Given the description of an element on the screen output the (x, y) to click on. 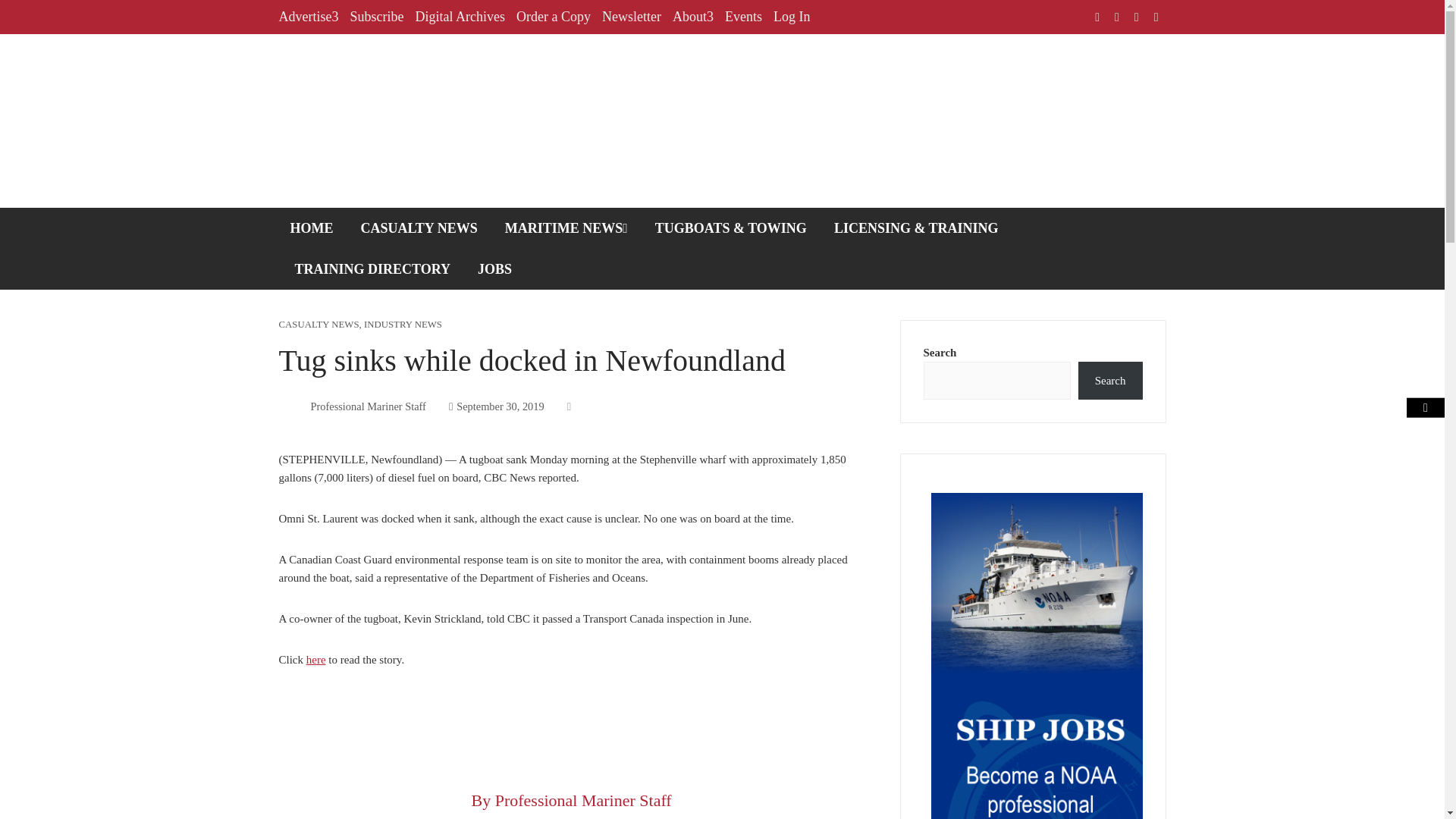
Advertise (309, 17)
Events (743, 17)
About (692, 17)
Log In (791, 17)
Order a Copy (553, 17)
TRAINING DIRECTORY (373, 268)
Digital Archives (458, 17)
Subscribe (376, 17)
CASUALTY NEWS (319, 325)
INDUSTRY NEWS (403, 325)
